Given the description of an element on the screen output the (x, y) to click on. 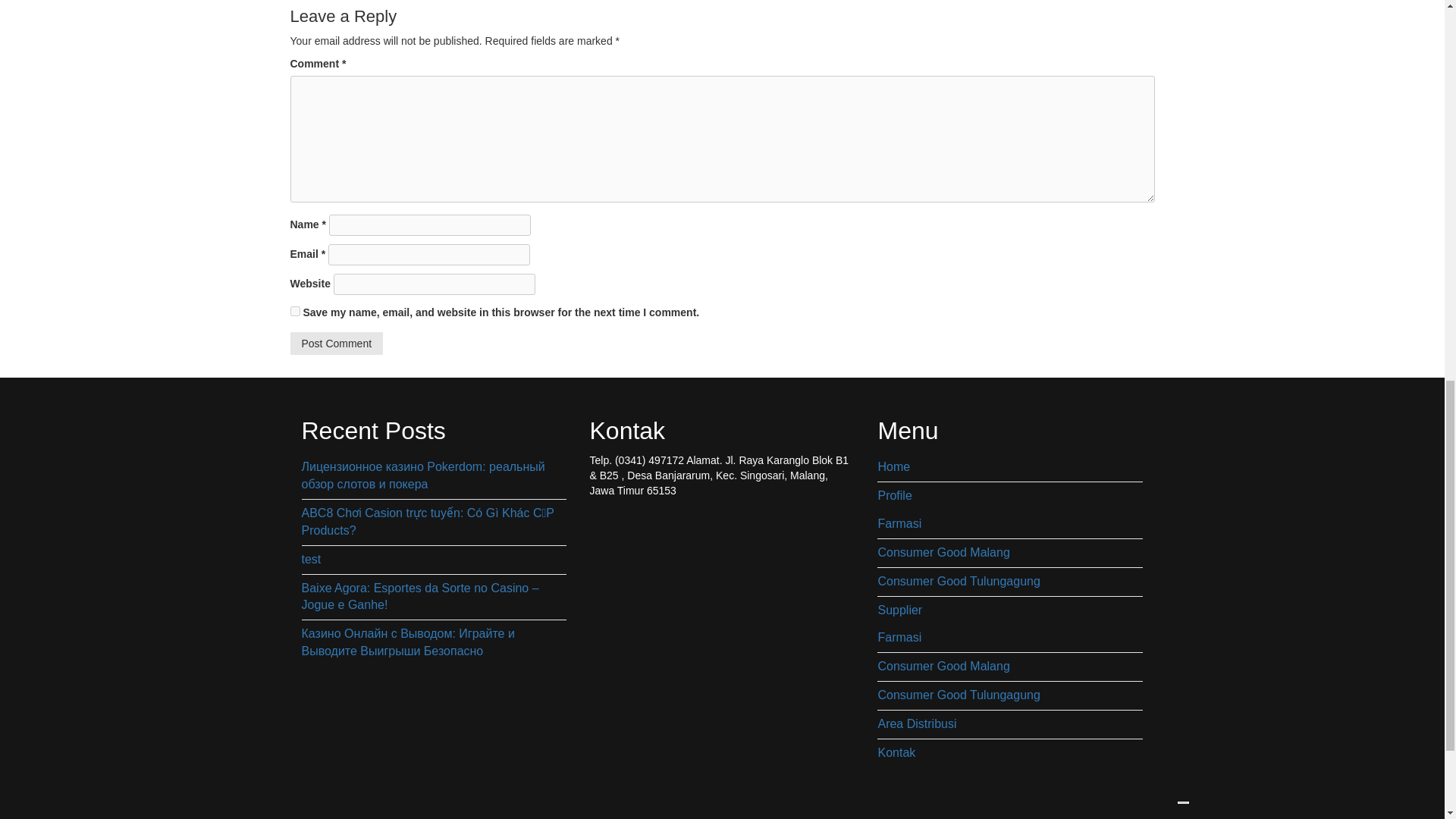
Post Comment (335, 343)
test (434, 560)
Post Comment (335, 343)
yes (294, 311)
